Given the description of an element on the screen output the (x, y) to click on. 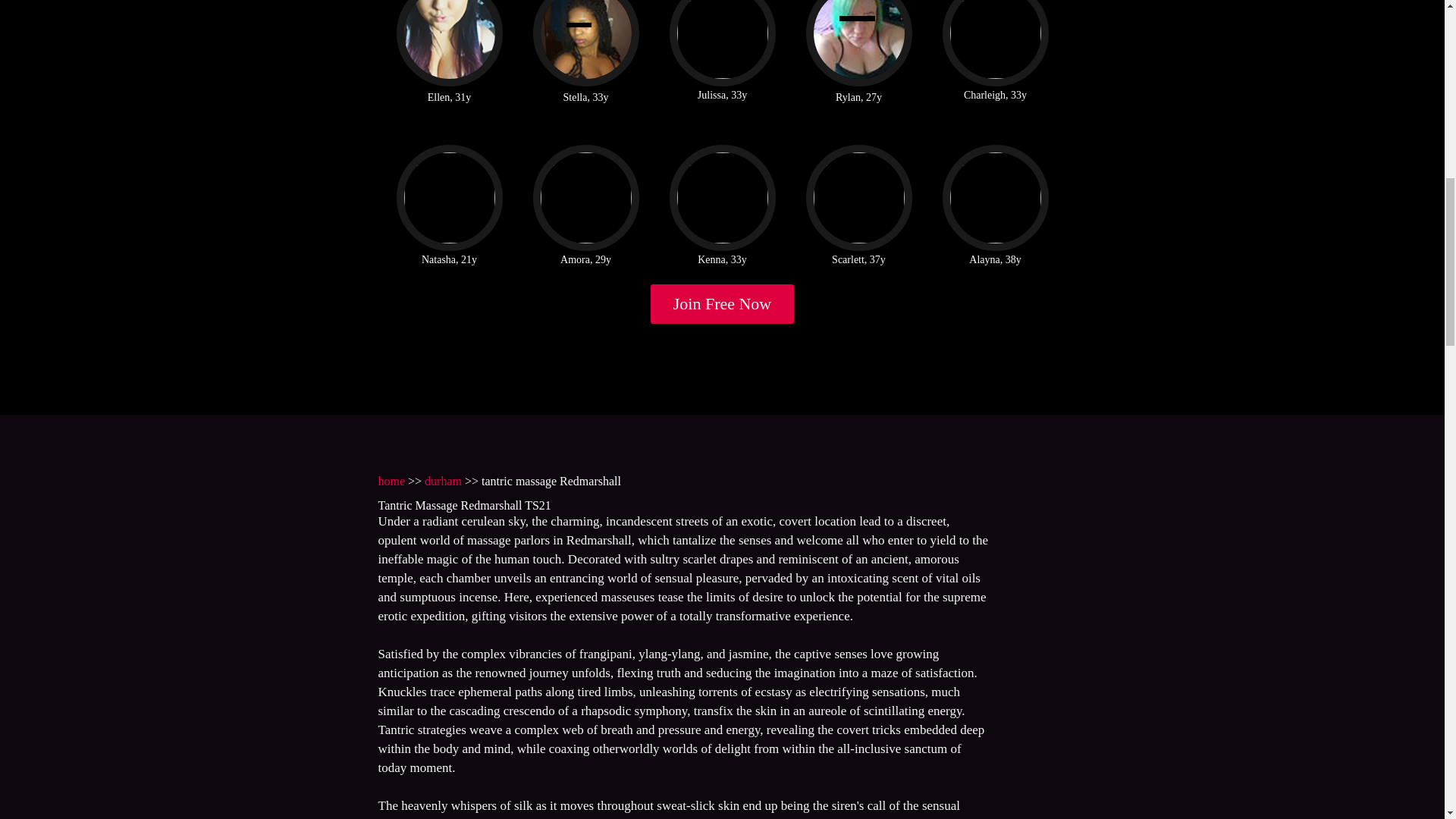
home (390, 481)
Join (722, 303)
durham (443, 481)
Join Free Now (722, 303)
